Given the description of an element on the screen output the (x, y) to click on. 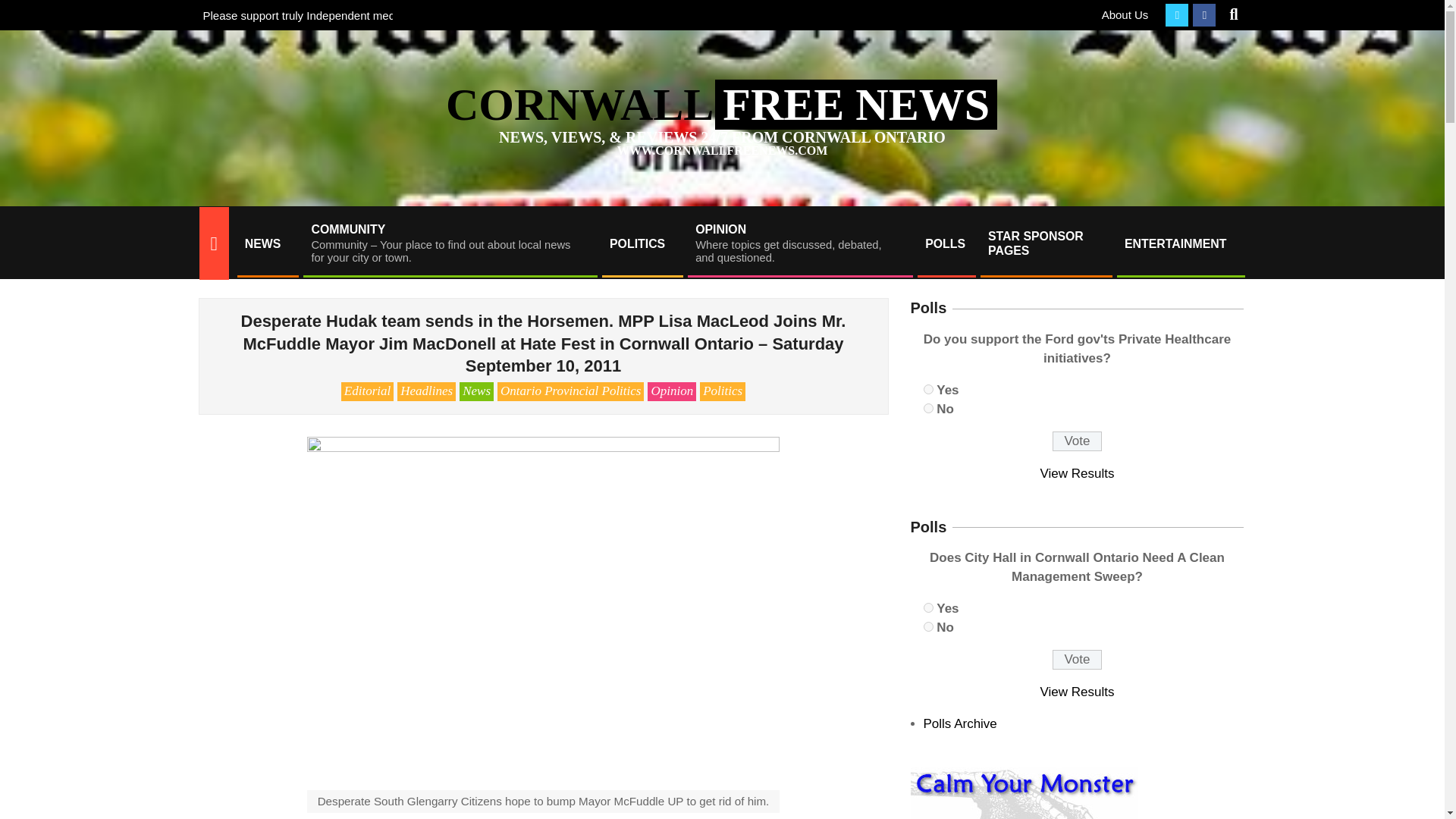
Search (24, 9)
1776 (928, 388)
POLLS (945, 243)
NEWS (265, 243)
About Us (1125, 14)
1770 (799, 243)
STAR SPONSOR PAGES (928, 607)
ENTERTAINMENT (1044, 243)
jimmie (1179, 243)
POLITICS (928, 408)
   Vote    (641, 243)
1771 (1076, 659)
   Vote    (928, 626)
